Given the description of an element on the screen output the (x, y) to click on. 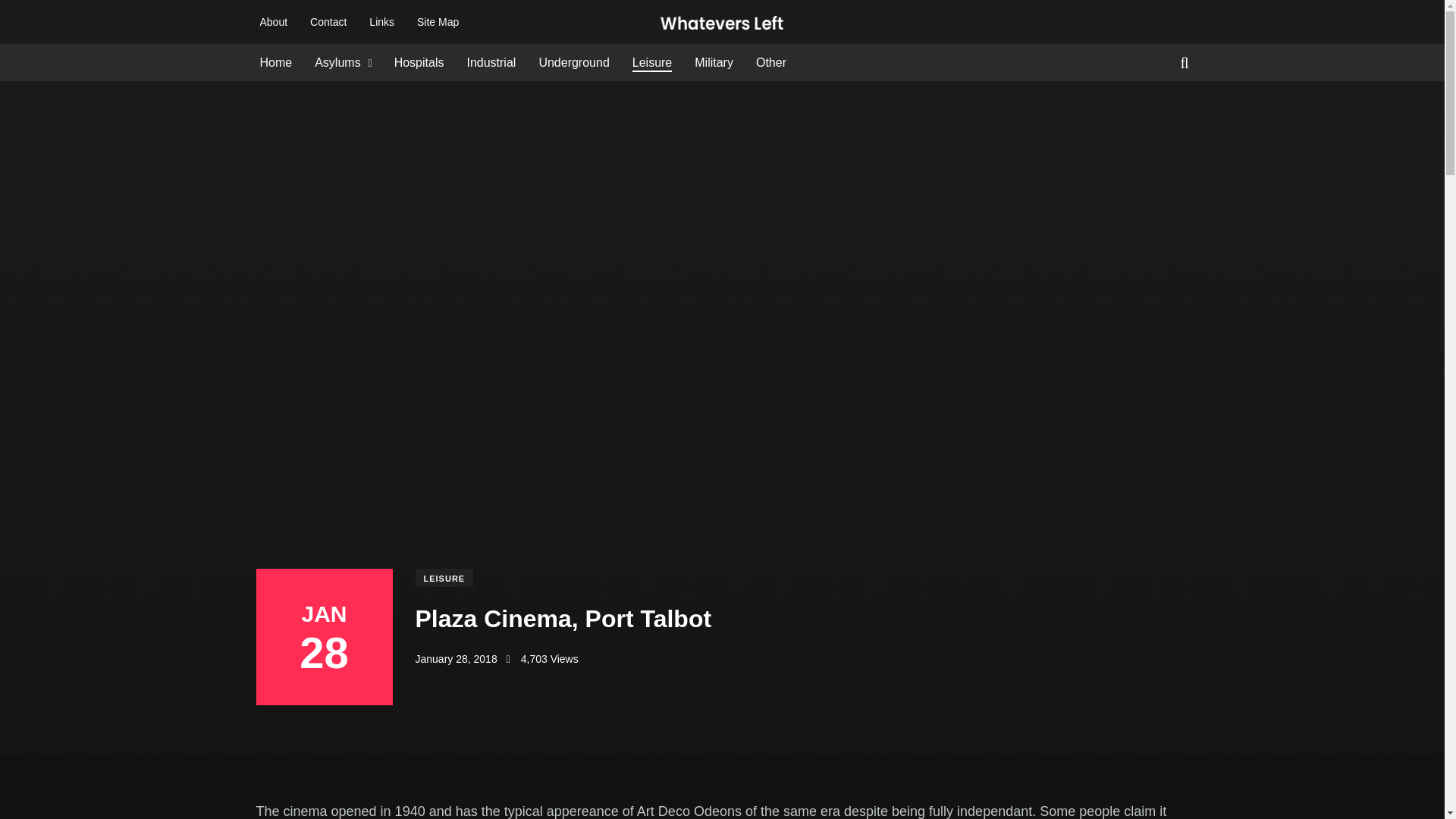
Site Map (437, 21)
About (272, 21)
Contact (328, 21)
Asylums (336, 63)
Links (381, 21)
Hospitals (419, 63)
Underground (573, 63)
Industrial (490, 63)
Home (275, 63)
